Given the description of an element on the screen output the (x, y) to click on. 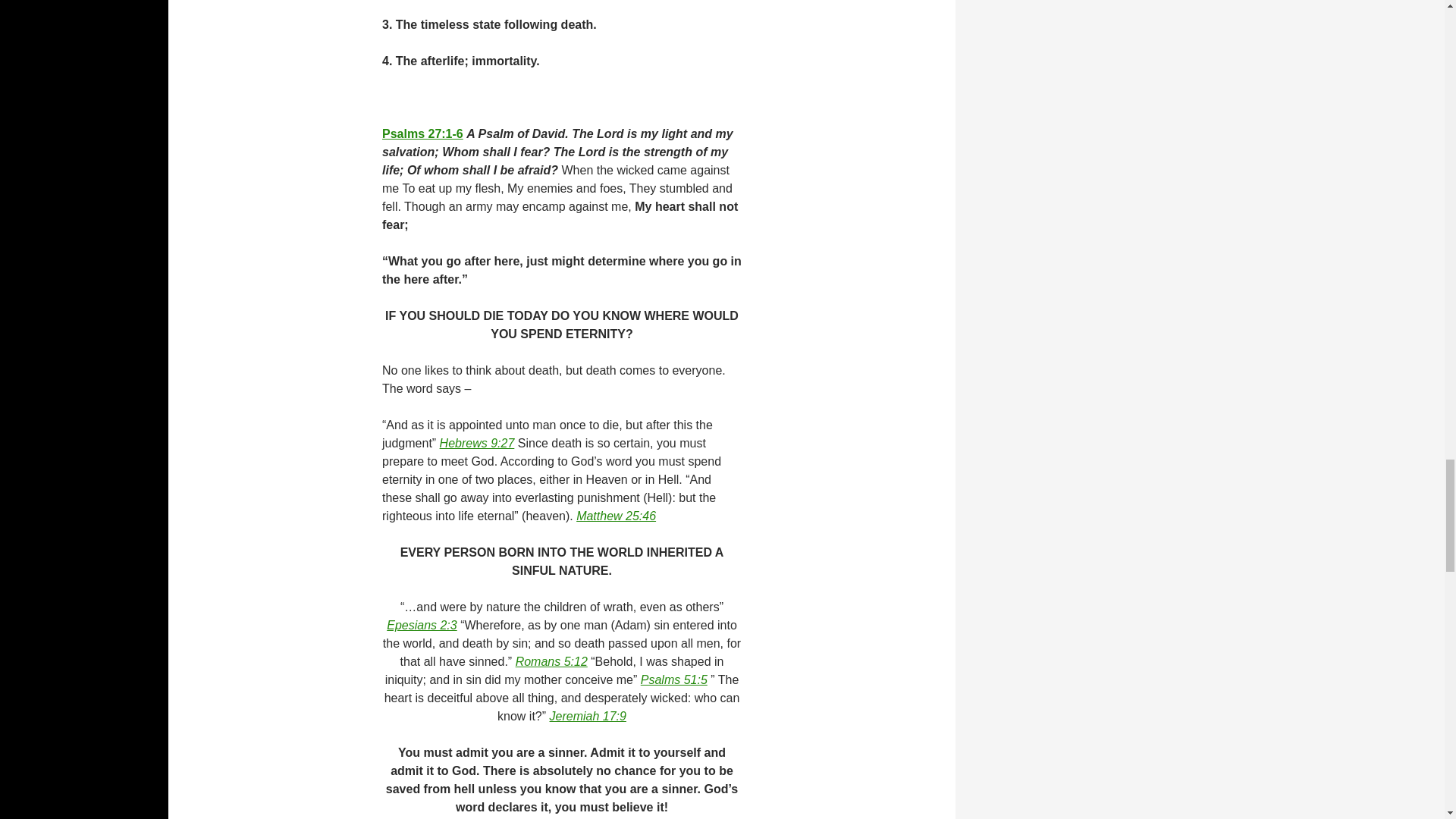
Psalms 27:1-6 (422, 133)
